Given the description of an element on the screen output the (x, y) to click on. 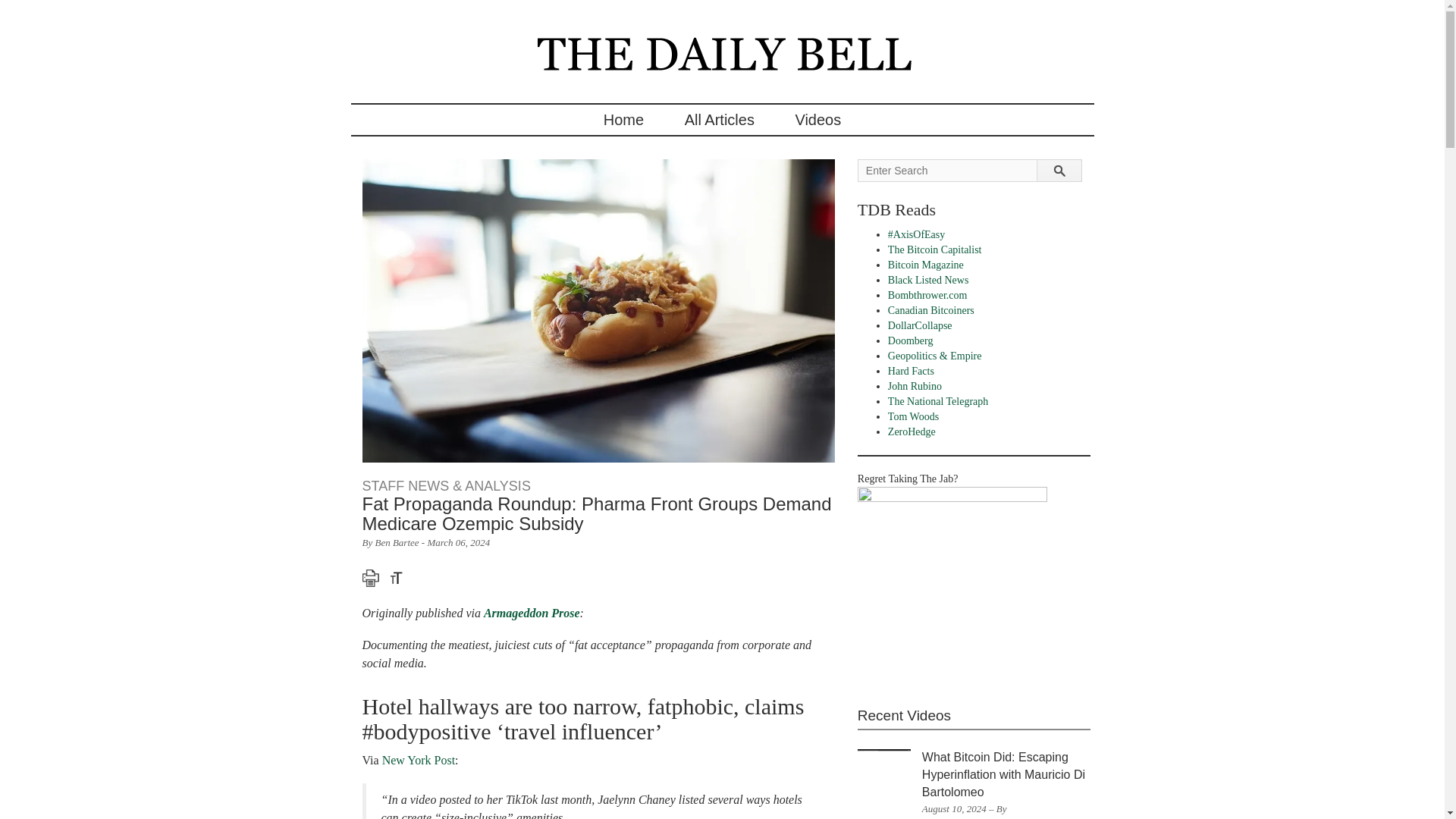
DollarCollapse (920, 325)
New York Post (417, 759)
Hard Facts (911, 370)
Tom Woods (913, 416)
ZeroHedge (912, 431)
Bitcoin Magazine (925, 265)
Armageddon Prose (531, 612)
Black Listed News (928, 279)
Videos (818, 119)
All Articles (719, 119)
